Given the description of an element on the screen output the (x, y) to click on. 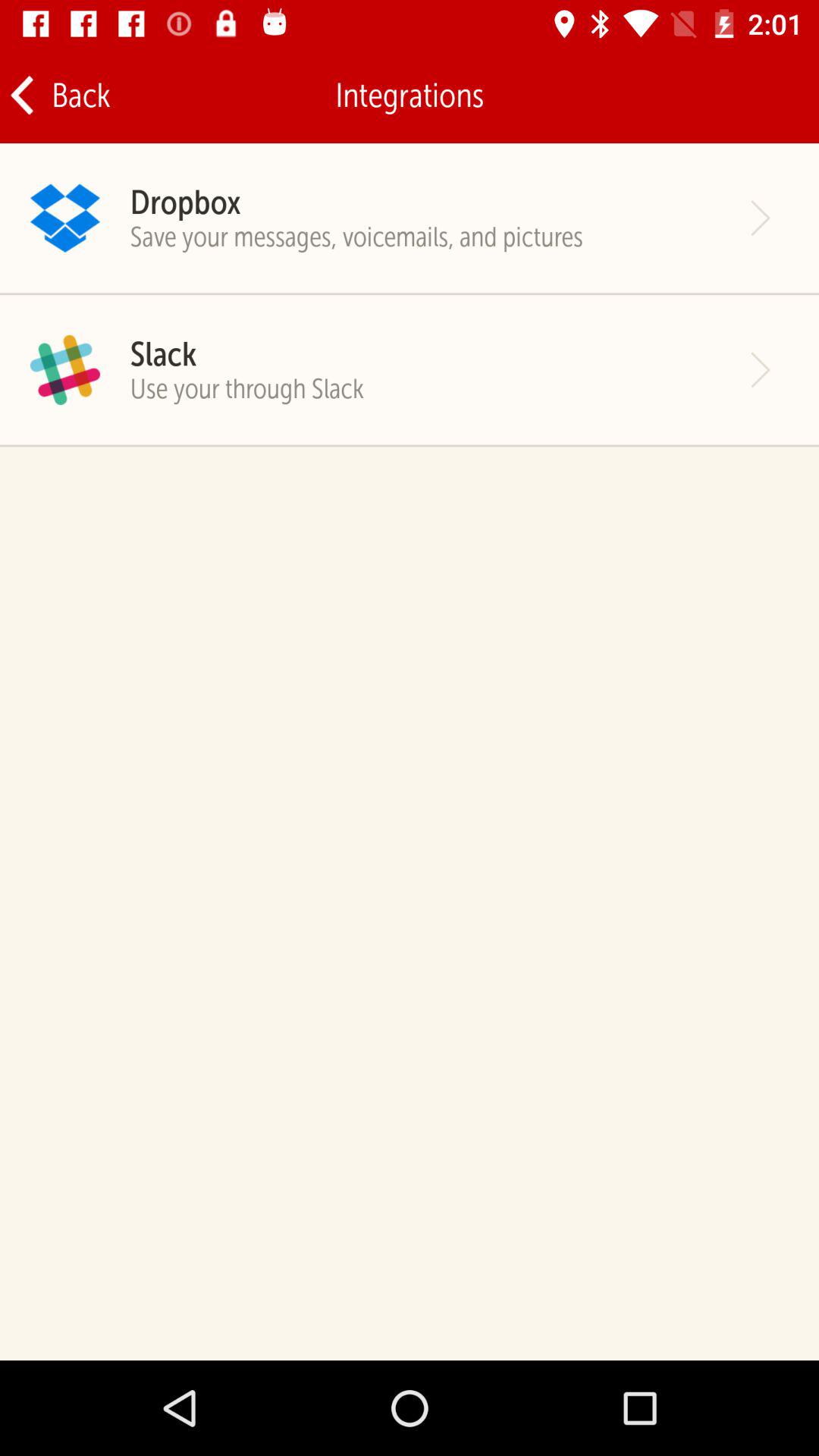
click the icon below the integrations icon (185, 202)
